Given the description of an element on the screen output the (x, y) to click on. 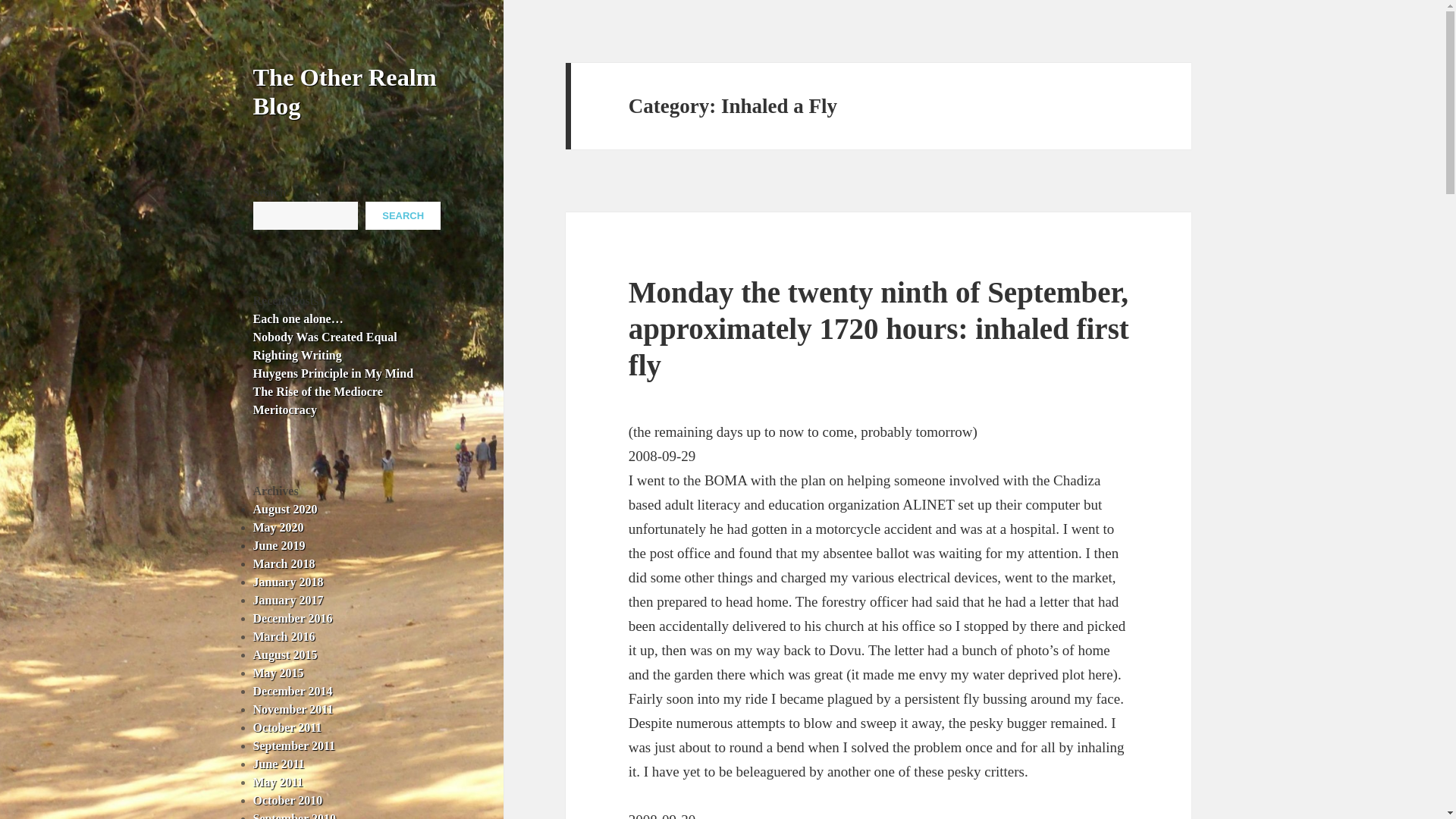
The Other Realm Blog (344, 91)
June 2011 (278, 763)
December 2016 (293, 617)
August 2020 (285, 508)
October 2011 (287, 727)
May 2015 (278, 672)
August 2015 (285, 654)
June 2019 (279, 545)
October 2010 (288, 799)
May 2020 (278, 526)
Huygens Principle in My Mind (333, 373)
May 2011 (277, 781)
Nobody Was Created Equal (325, 336)
September 2011 (294, 745)
The Rise of the Mediocre Meritocracy (317, 400)
